Given the description of an element on the screen output the (x, y) to click on. 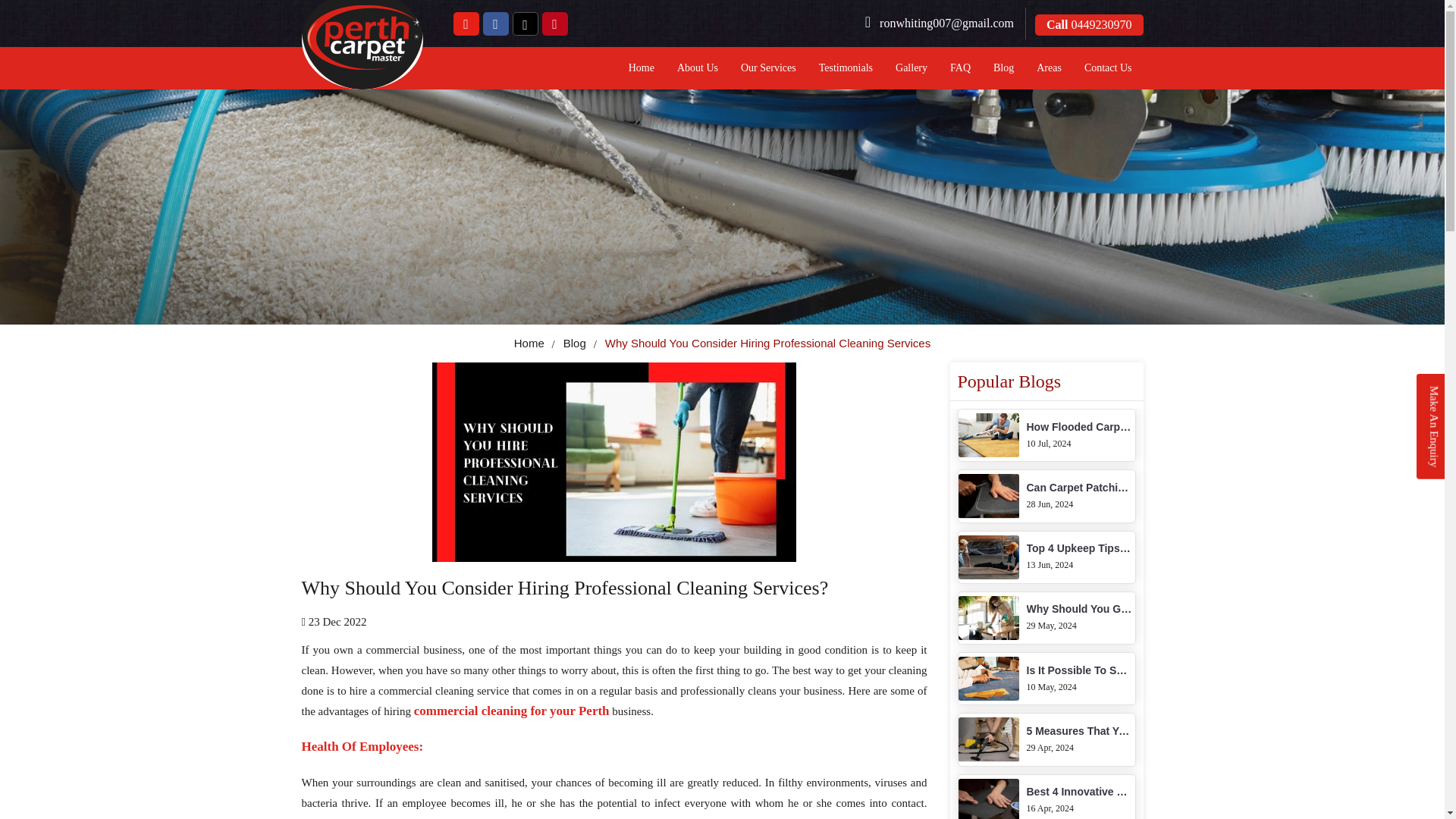
commercial cleaning for your Perth (511, 711)
FAQ (960, 67)
Testimonials (1046, 617)
Can Carpet Patching Work Like Magic To Repair Your Carpet? (845, 67)
Home (1046, 556)
5 Measures That You Can Take To Revive Your Wet Carpet (1046, 495)
Blog (528, 343)
Areas (1046, 738)
About Us (1003, 67)
